Given the description of an element on the screen output the (x, y) to click on. 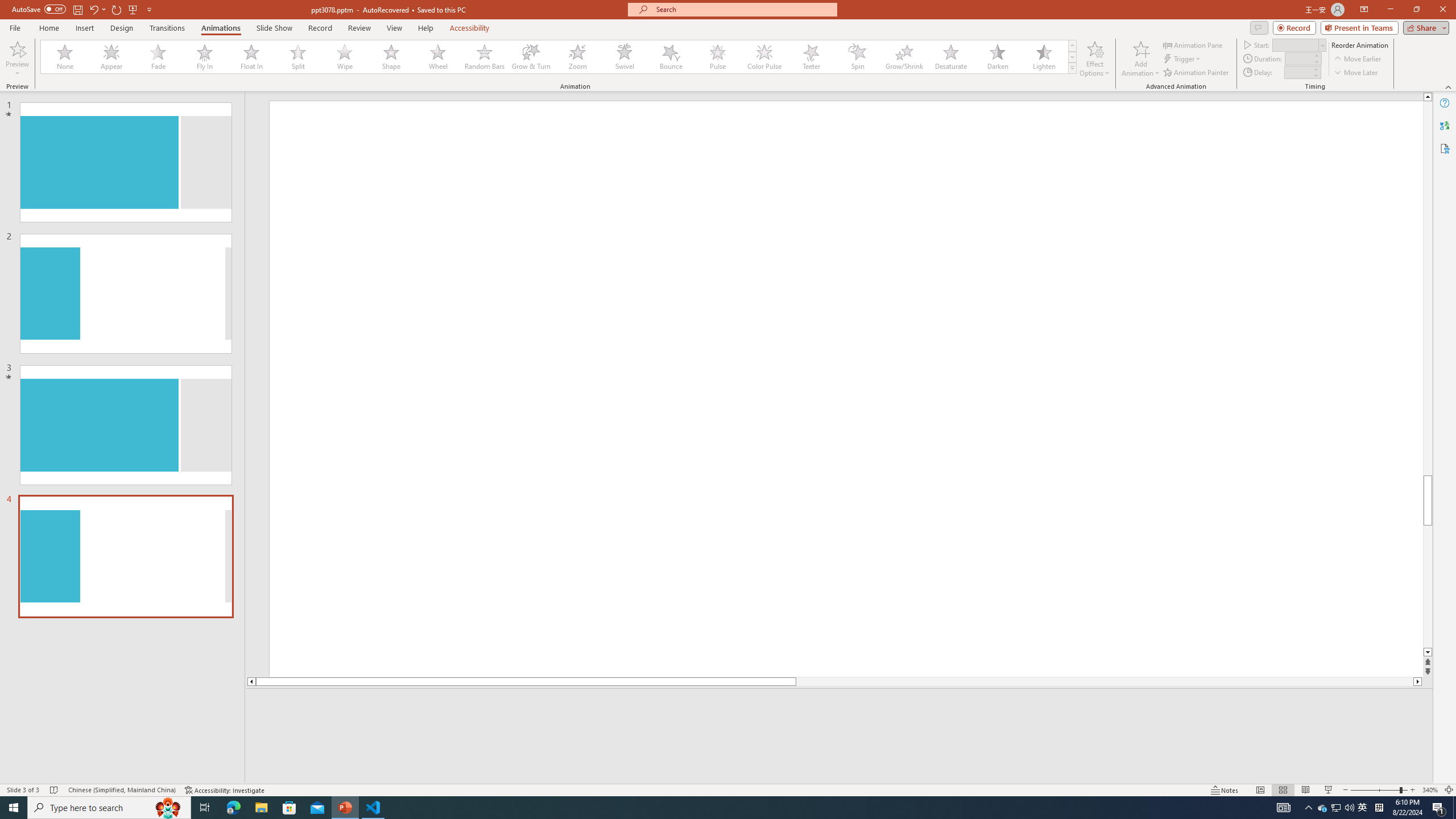
Float In (251, 56)
Fade (158, 56)
Swivel (624, 56)
Animation Duration (1298, 58)
Spin (857, 56)
AutomationID: AnimationGallery (558, 56)
Fly In (205, 56)
